Given the description of an element on the screen output the (x, y) to click on. 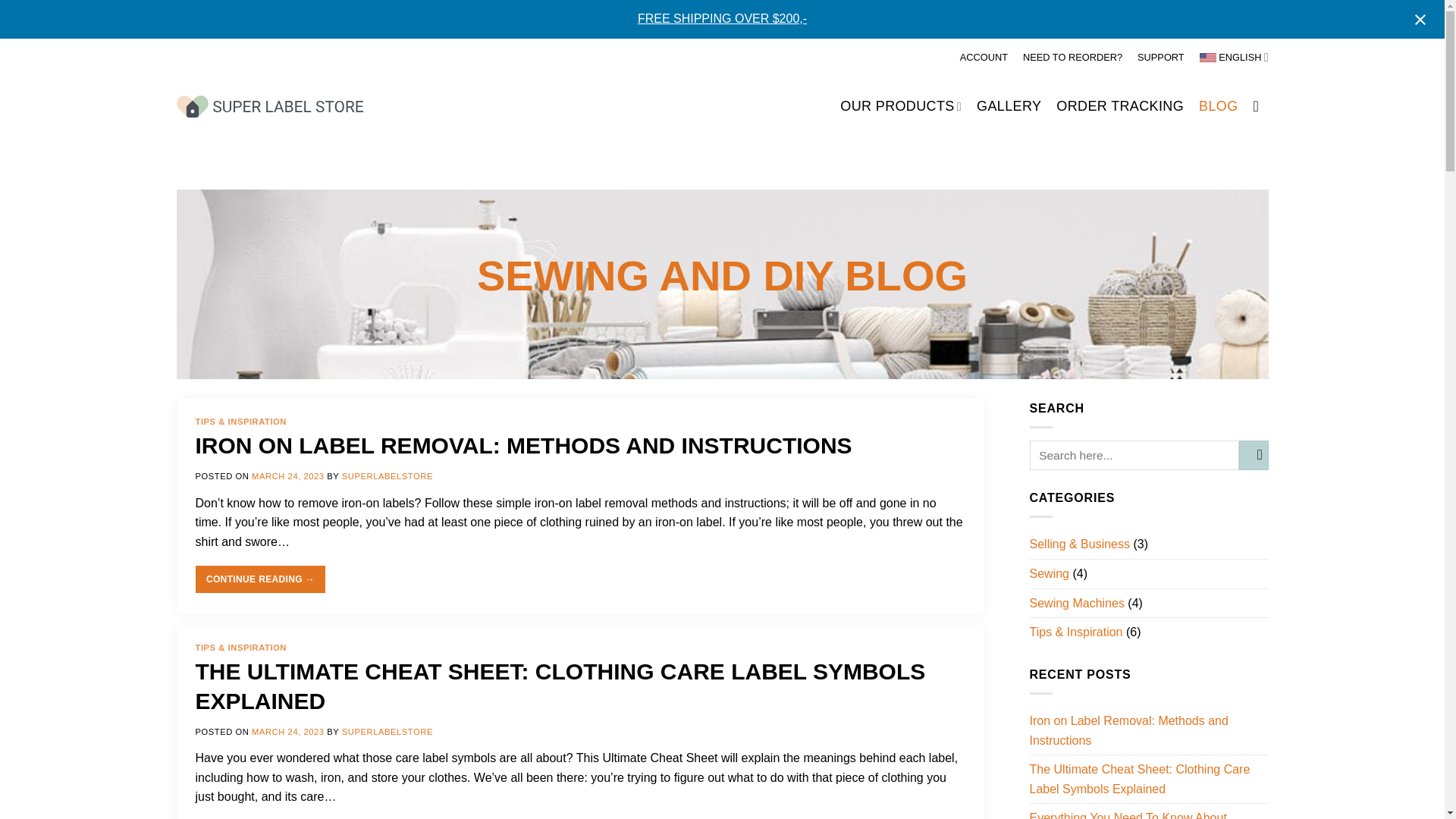
GALLERY (1008, 105)
SUPERLABELSTORE (387, 475)
MARCH 24, 2023 (287, 731)
BLOG (1217, 105)
ACCOUNT (983, 57)
OUR PRODUCTS (900, 106)
ORDER TRACKING (1120, 105)
Superlabelstore (269, 106)
SUPPORT (1161, 57)
SUPERLABELSTORE (387, 731)
 ENGLISH (1233, 56)
NEED TO REORDER? (1072, 57)
MARCH 24, 2023 (287, 475)
IRON ON LABEL REMOVAL: METHODS AND INSTRUCTIONS (523, 445)
